Given the description of an element on the screen output the (x, y) to click on. 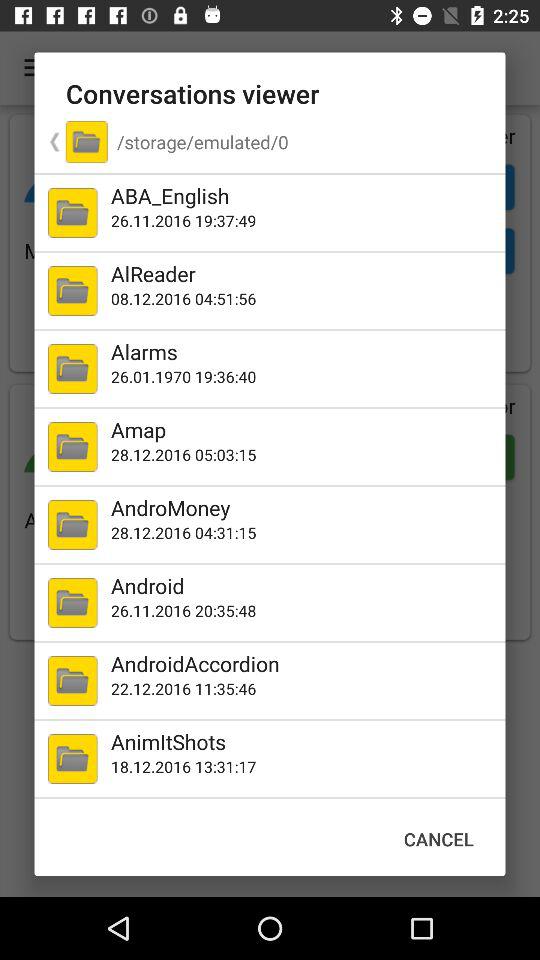
open icon above the 26 11 2016 (304, 585)
